Given the description of an element on the screen output the (x, y) to click on. 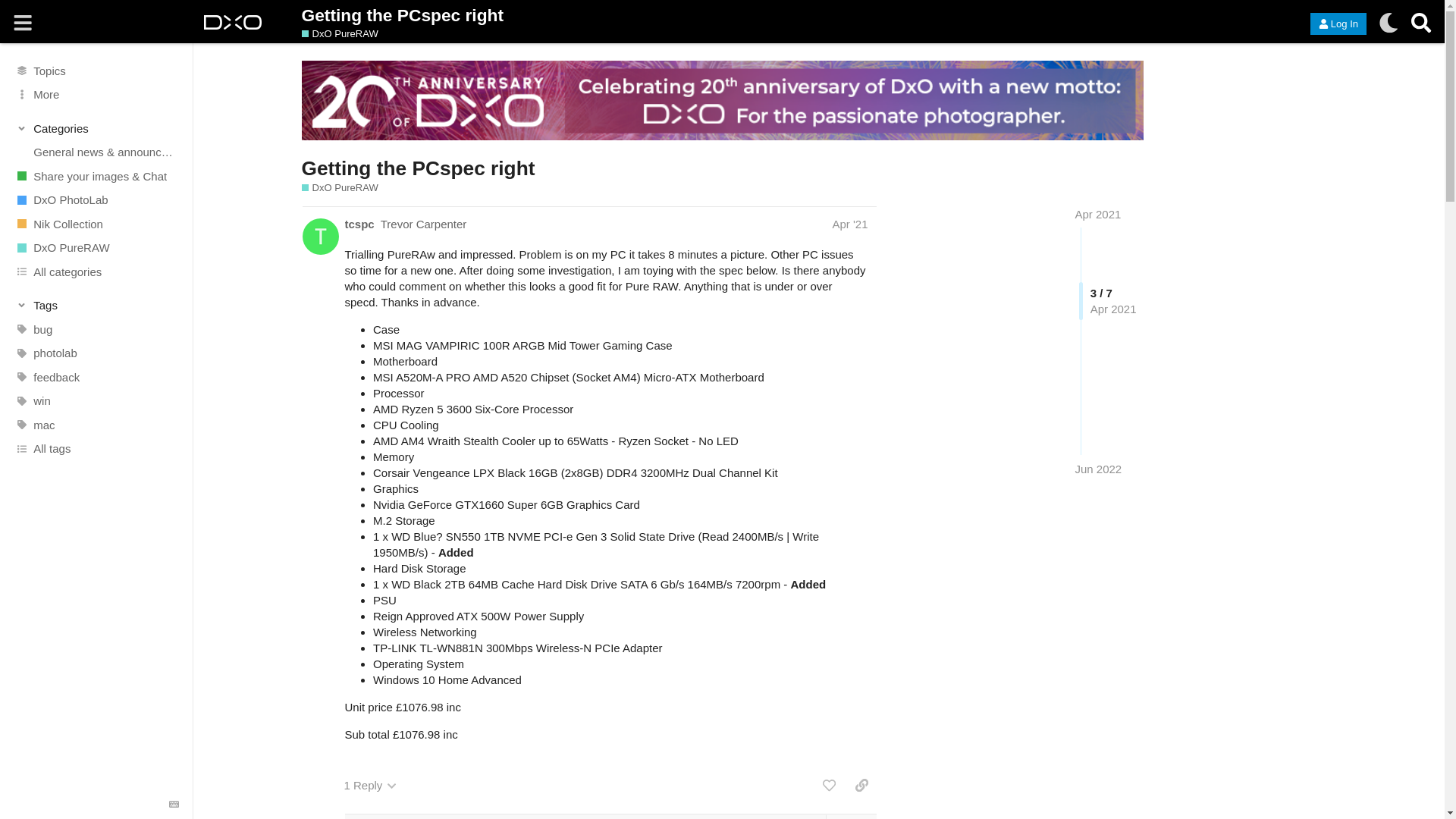
Getting the PCspec right (721, 14)
All tags (96, 448)
Toggle section (96, 305)
Toggle section (96, 127)
bug (96, 329)
Categories (96, 127)
Apr '21 (849, 223)
Toggle color scheme (1387, 22)
All categories (96, 271)
DxO PureRAW (96, 247)
Topics (96, 70)
DxO PureRAW (339, 187)
Log In (1338, 24)
Hide sidebar (23, 22)
